Given the description of an element on the screen output the (x, y) to click on. 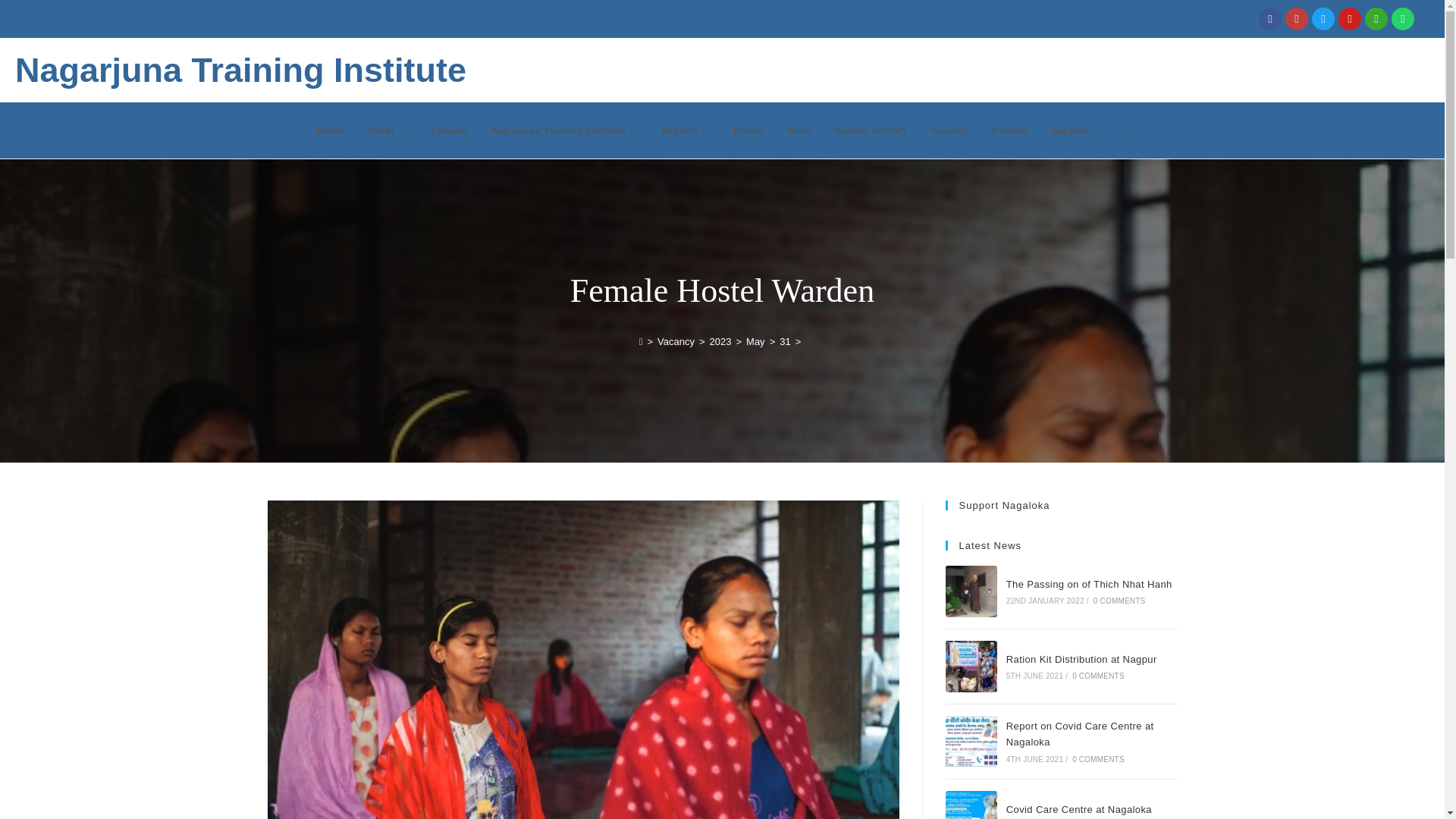
Nagarjuna Training Institute (564, 130)
Report on Covid Care Centre at Nagaloka (969, 741)
Reports (685, 130)
Home (330, 130)
Campus (449, 130)
Covid Care Centre at Nagaloka (969, 805)
Events (749, 130)
Contact (1009, 130)
Ration Kit Distribution at Nagpur (969, 666)
About (387, 130)
Vacancy (948, 130)
Alumni Activity (870, 130)
The Passing on of Thich Nhat Hanh (969, 591)
Support (1075, 130)
